Given the description of an element on the screen output the (x, y) to click on. 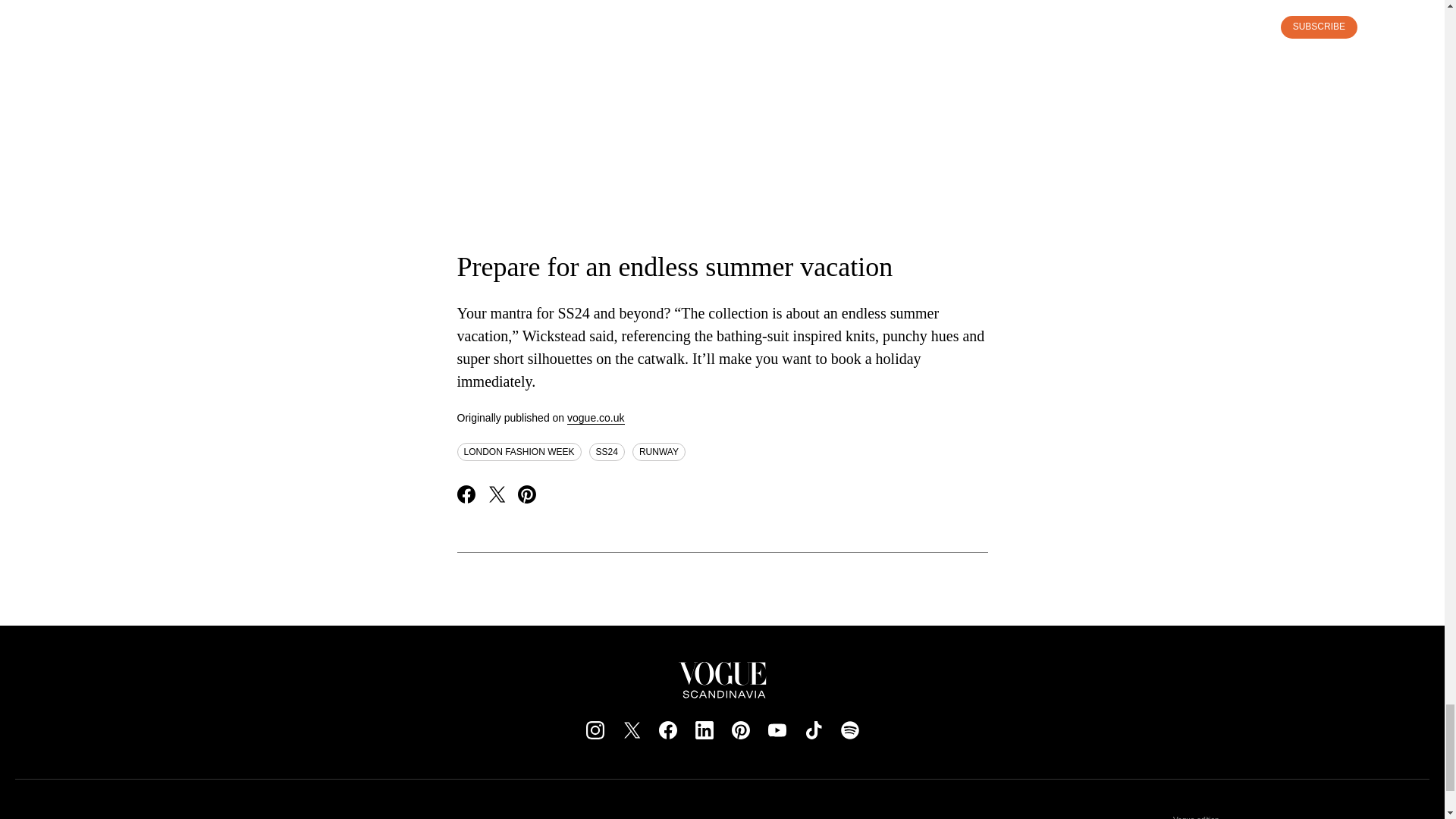
LONDON FASHION WEEK (518, 452)
SS24 (606, 452)
RUNWAY (658, 452)
vogue.co.uk (595, 418)
